Given the description of an element on the screen output the (x, y) to click on. 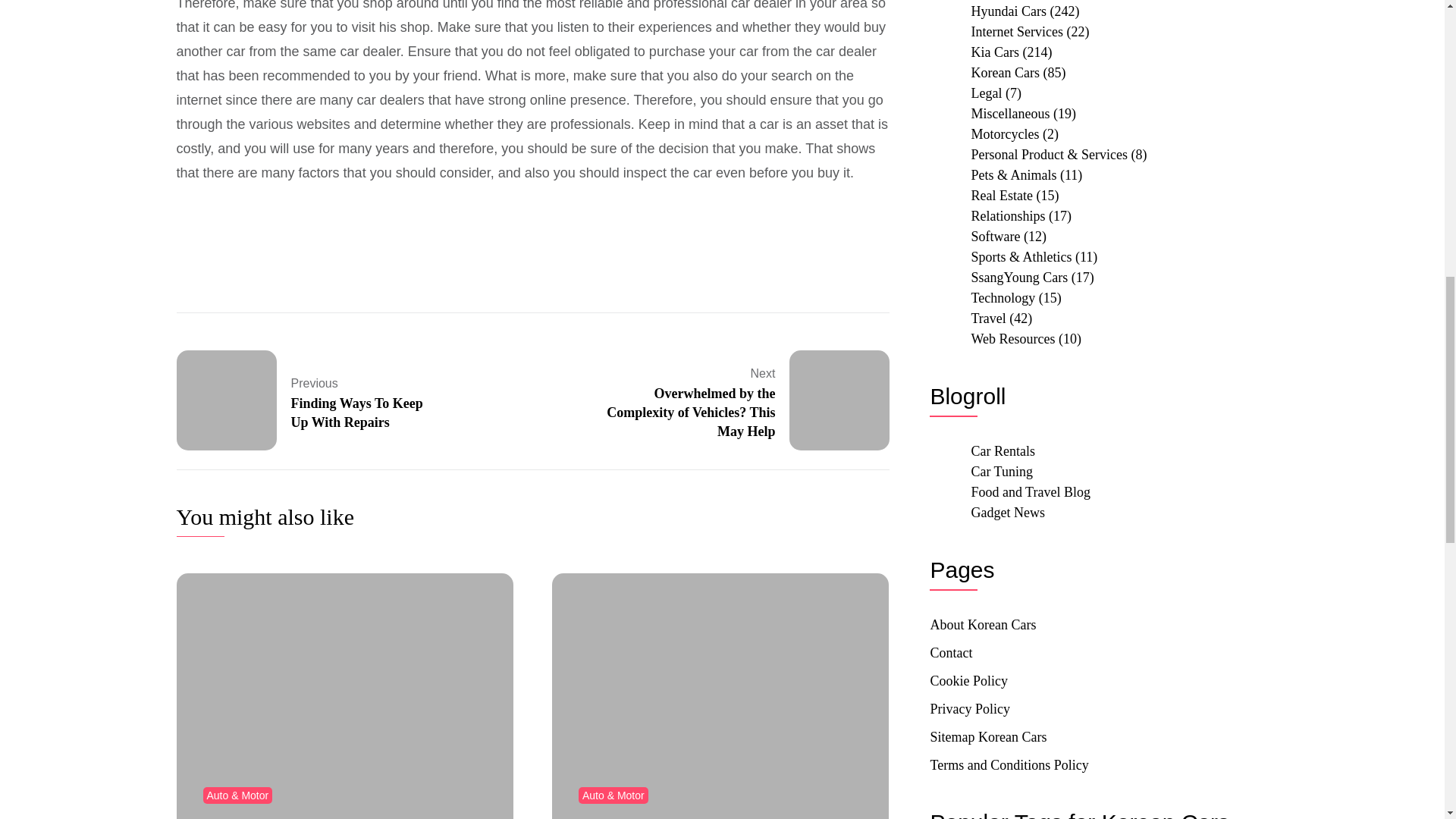
Car Tuning and Modified Car News (1001, 471)
Gadget News (1007, 512)
Food and Travel Blog (307, 400)
Car Rentals (1030, 491)
